Given the description of an element on the screen output the (x, y) to click on. 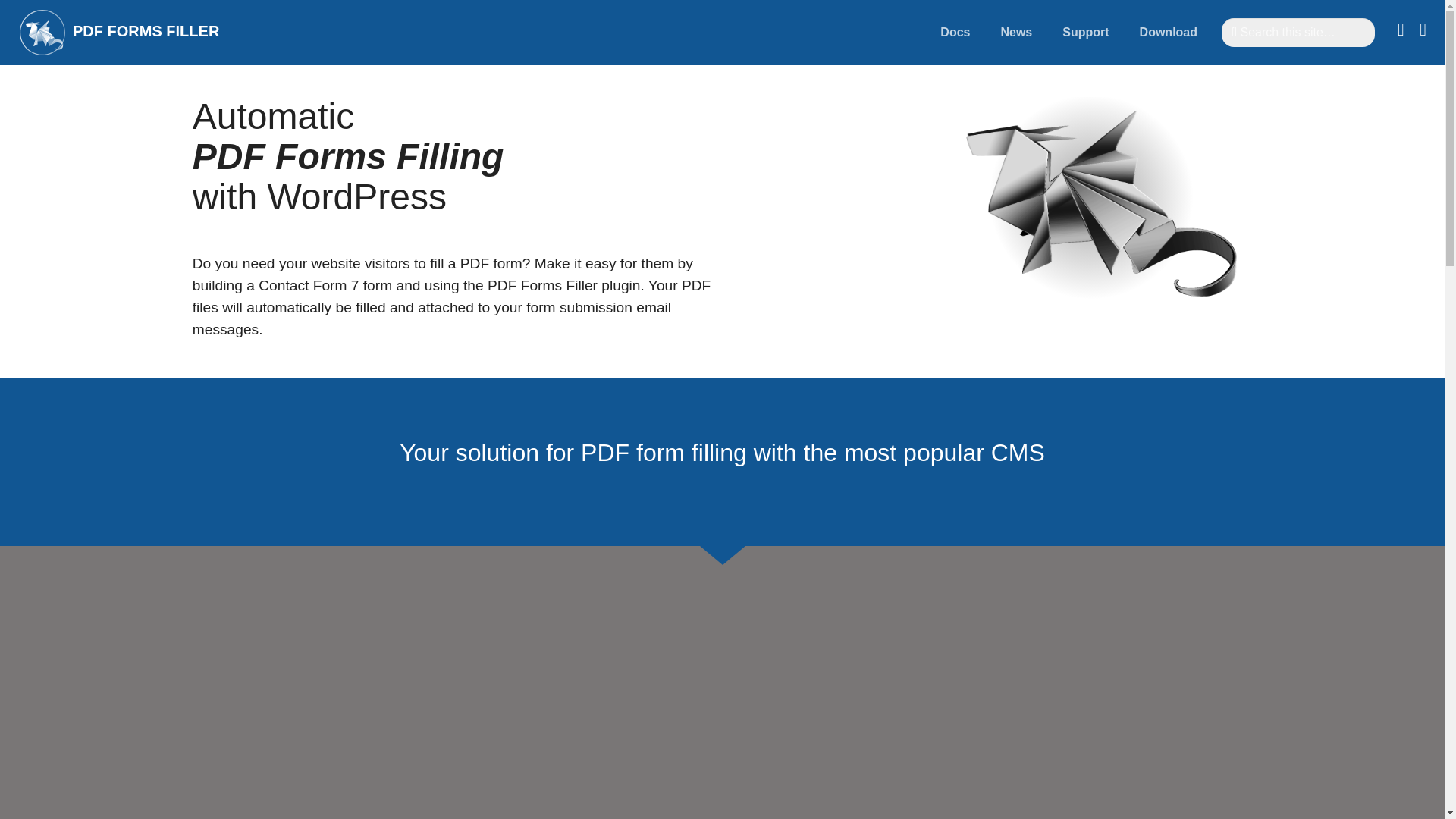
Download (1077, 32)
News (1169, 32)
PDF FORMS FILLER (1016, 32)
Support (115, 31)
Docs (1086, 32)
YouTube Video (954, 32)
